Given the description of an element on the screen output the (x, y) to click on. 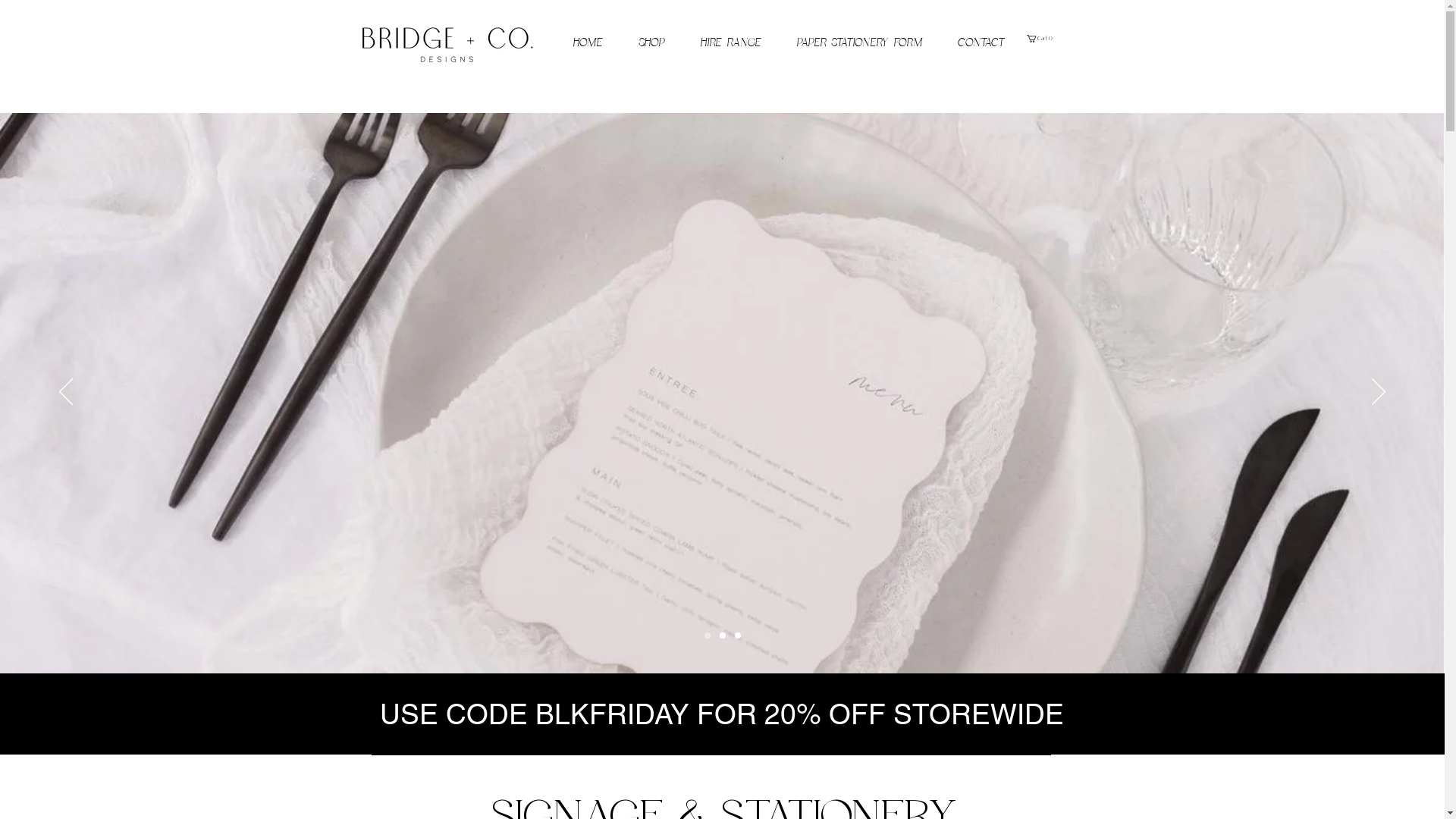
PAPER STATIONERY FORM Element type: text (858, 42)
HIRE RANGE Element type: text (730, 42)
SHOP Element type: text (650, 42)
HOME Element type: text (588, 42)
Cart
0 Element type: text (1040, 38)
CONTACT Element type: text (981, 42)
